Given the description of an element on the screen output the (x, y) to click on. 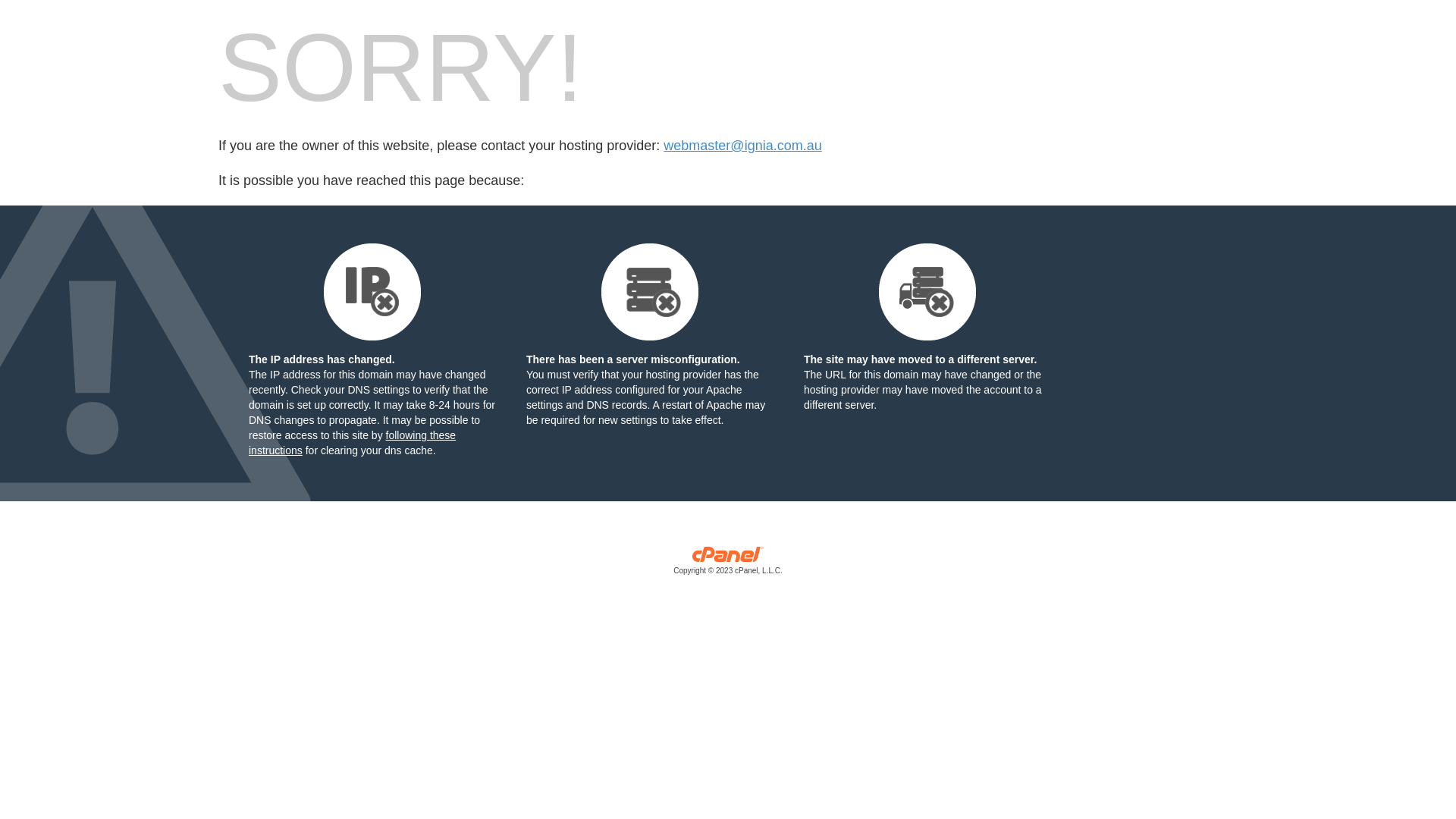
following these instructions Element type: text (351, 442)
webmaster@ignia.com.au Element type: text (742, 145)
